Given the description of an element on the screen output the (x, y) to click on. 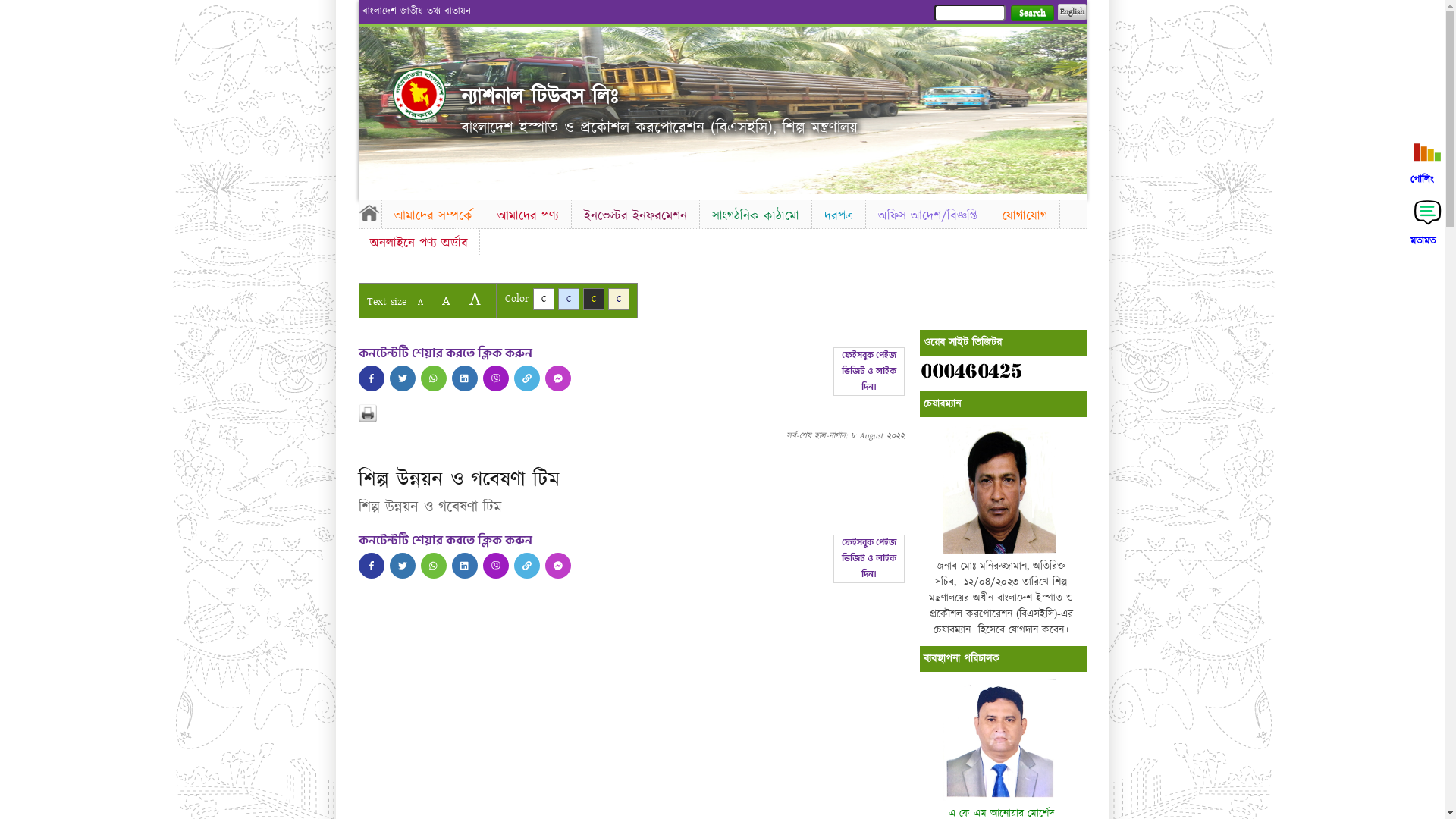
A Element type: text (419, 301)
C Element type: text (568, 299)
Home Element type: hover (368, 211)
Home Element type: hover (418, 93)
C Element type: text (618, 299)
English Element type: text (1071, 11)
C Element type: text (592, 299)
A Element type: text (445, 300)
website counter Element type: hover (970, 370)
A Element type: text (474, 298)
C Element type: text (542, 299)
Search Element type: text (1031, 13)
